Given the description of an element on the screen output the (x, y) to click on. 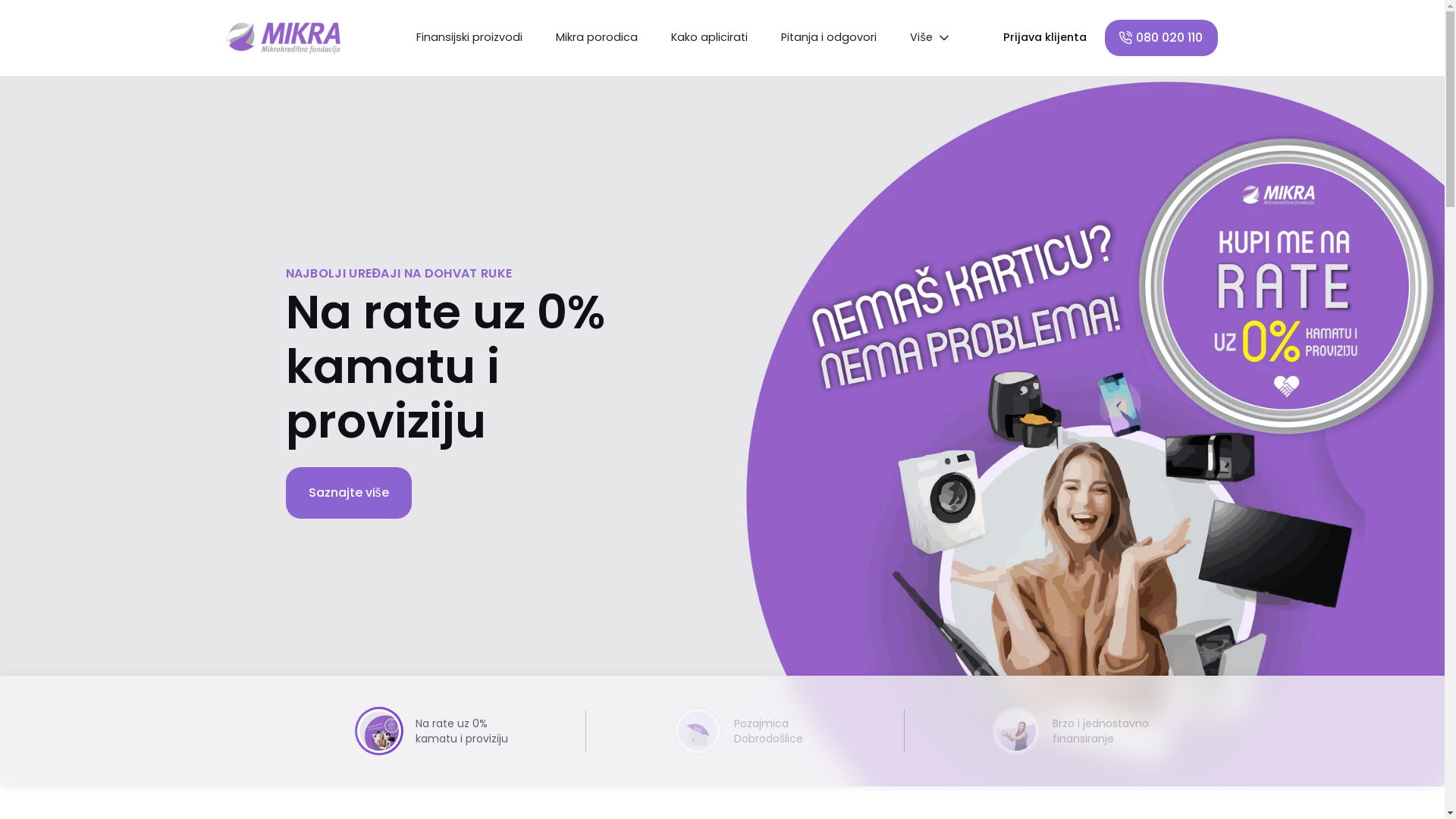
Prijava klijenta Element type: text (1044, 37)
080 020 110 Element type: text (1160, 37)
Pitanja i odgovori Element type: text (828, 37)
Mikra porodica Element type: text (596, 37)
Kako aplicirati Element type: text (709, 37)
Finansijski proizvodi Element type: text (469, 37)
